Given the description of an element on the screen output the (x, y) to click on. 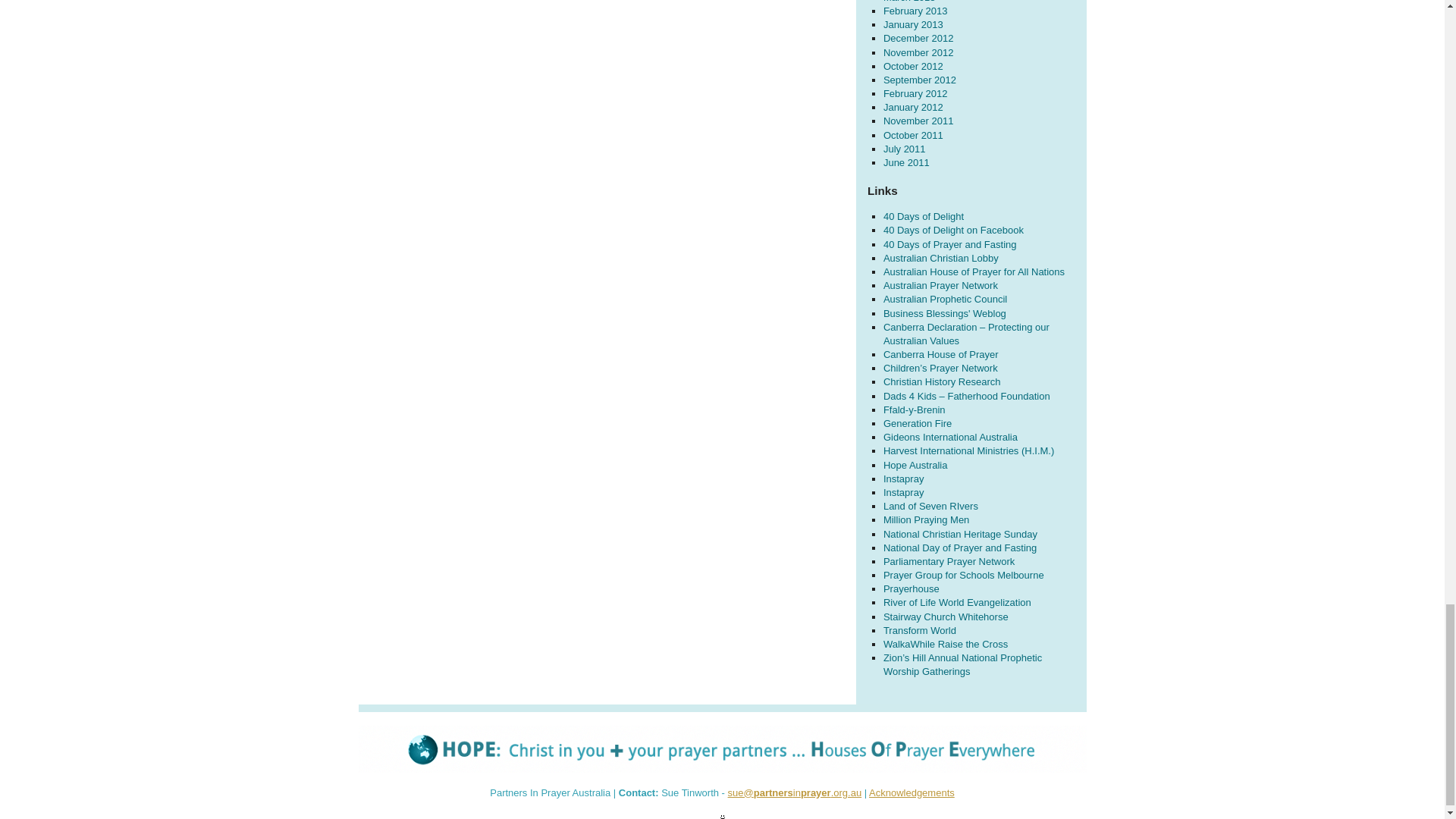
Share the Journey 15 Feb-29 March www40daysofdelight.com.au (953, 229)
Supporting people in Business (944, 313)
